Given the description of an element on the screen output the (x, y) to click on. 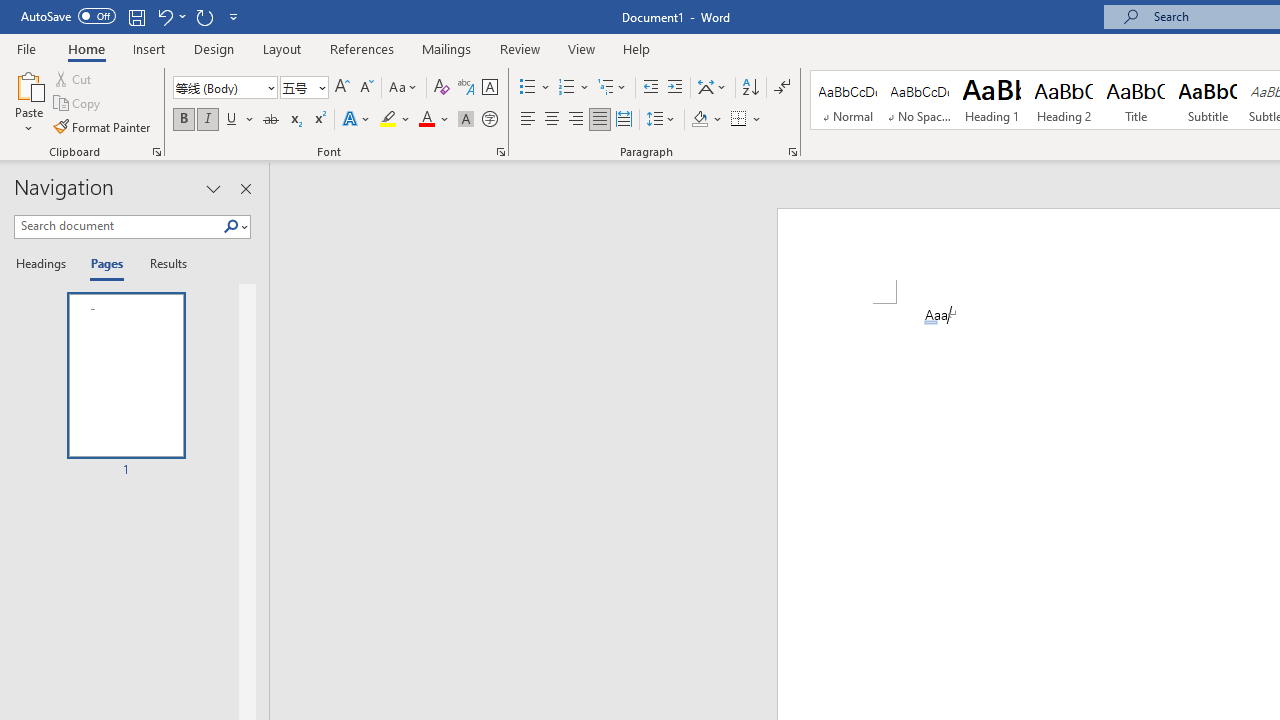
Font Color Red (426, 119)
Undo Apply Quick Style (164, 15)
